Given the description of an element on the screen output the (x, y) to click on. 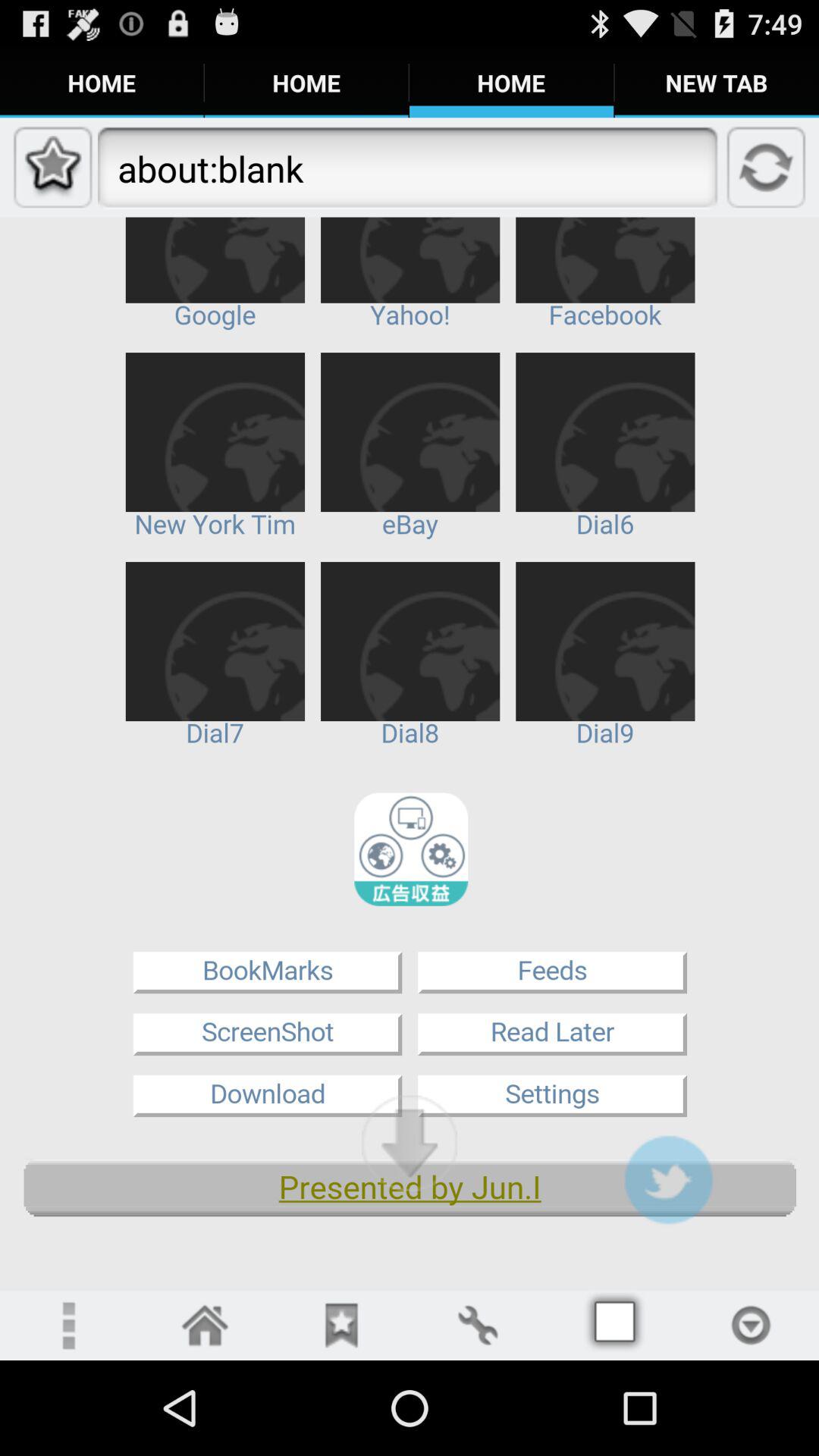
go home (204, 1325)
